Given the description of an element on the screen output the (x, y) to click on. 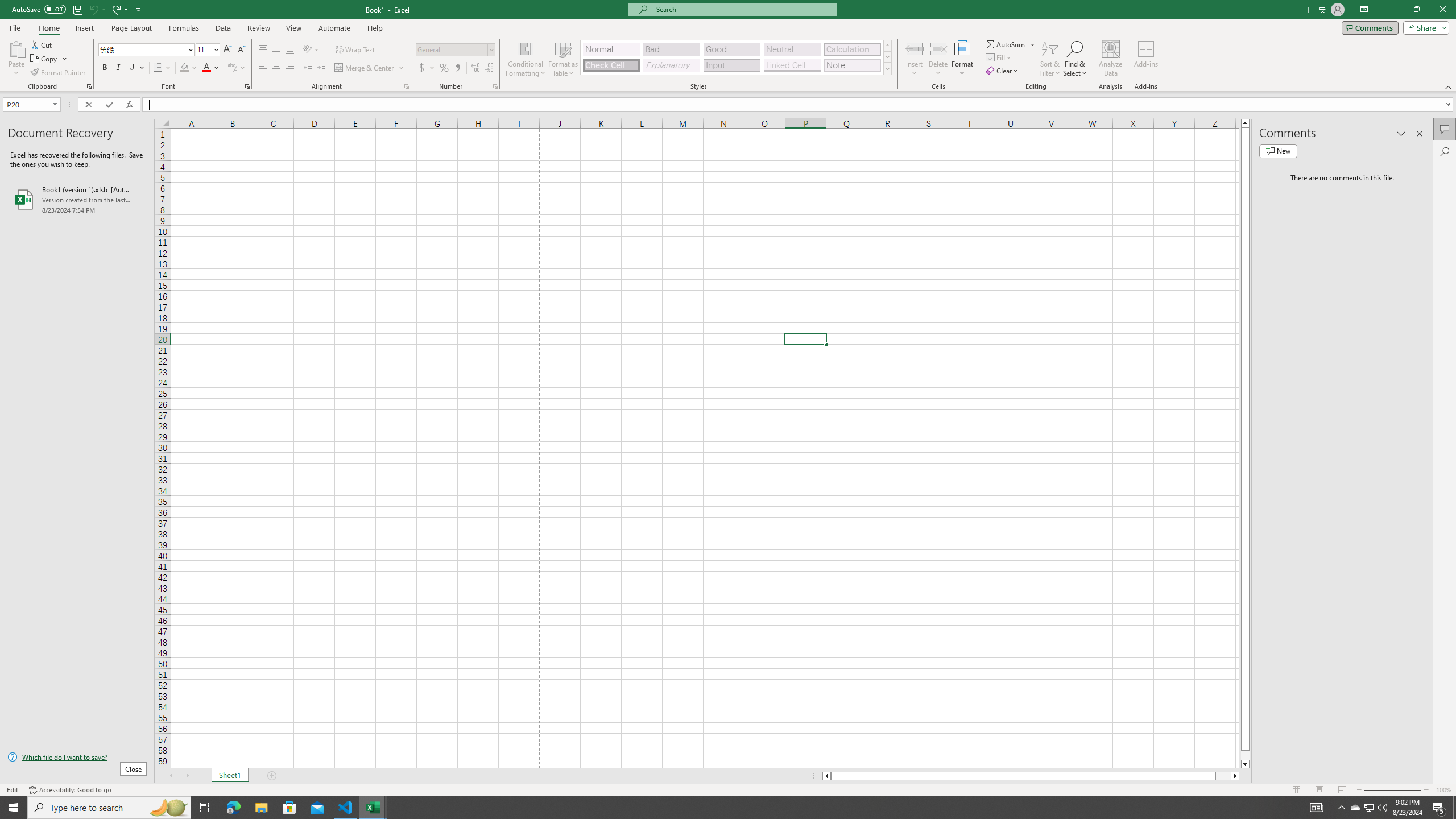
Data (223, 28)
Linked Cell (791, 65)
Line down (1245, 764)
New comment (1278, 151)
Help (374, 28)
File Tab (15, 27)
Orientation (311, 49)
Top Align (262, 49)
Save (77, 9)
Paste (16, 48)
Review (258, 28)
Page right (1222, 775)
Quick Access Toolbar (77, 9)
Bold (104, 67)
